Given the description of an element on the screen output the (x, y) to click on. 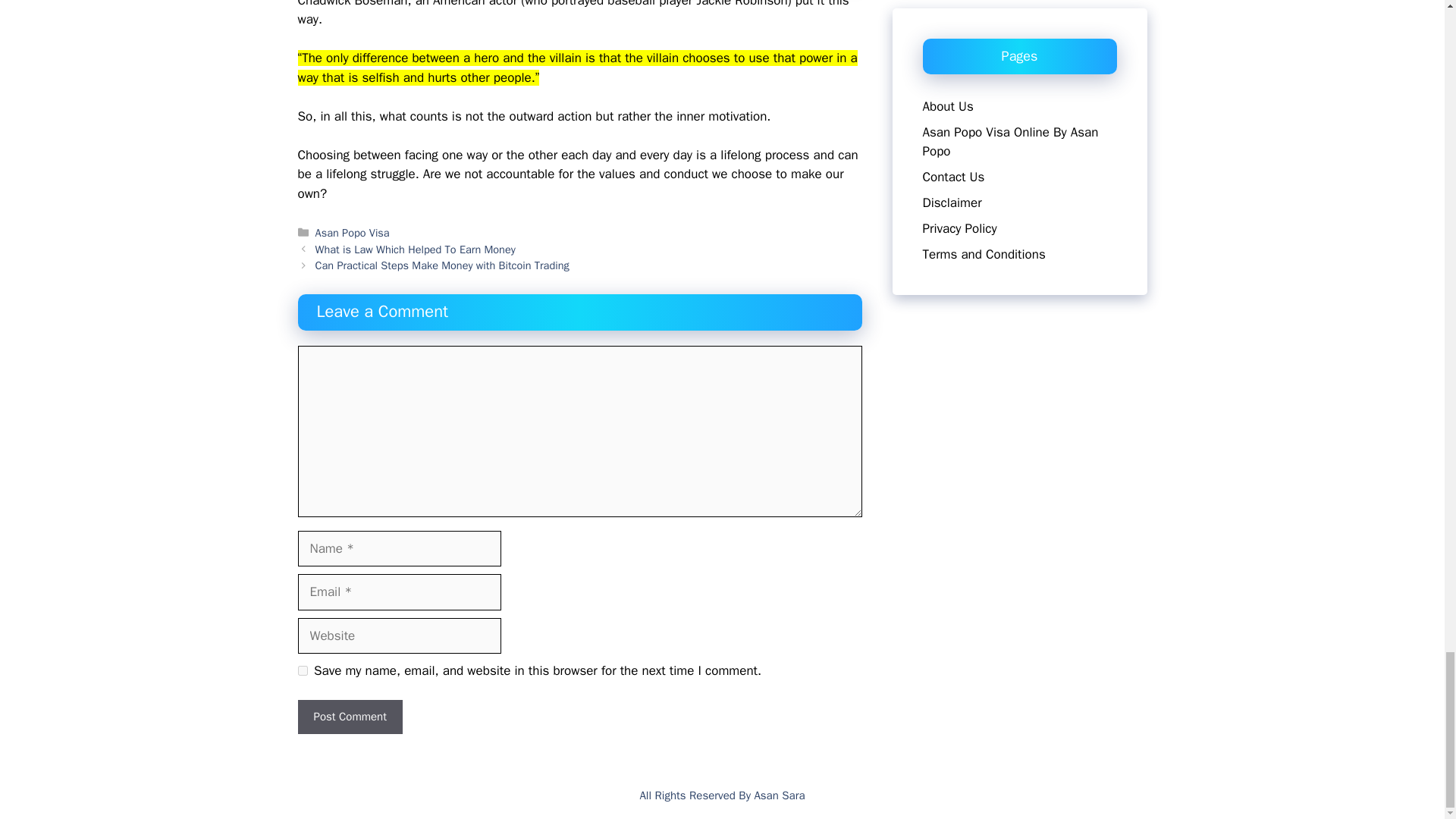
What is Law Which Helped To Earn Money (415, 249)
yes (302, 670)
Post Comment (349, 716)
Post Comment (349, 716)
Asan Popo Visa (352, 232)
Can Practical Steps Make Money with Bitcoin Trading (442, 264)
